Given the description of an element on the screen output the (x, y) to click on. 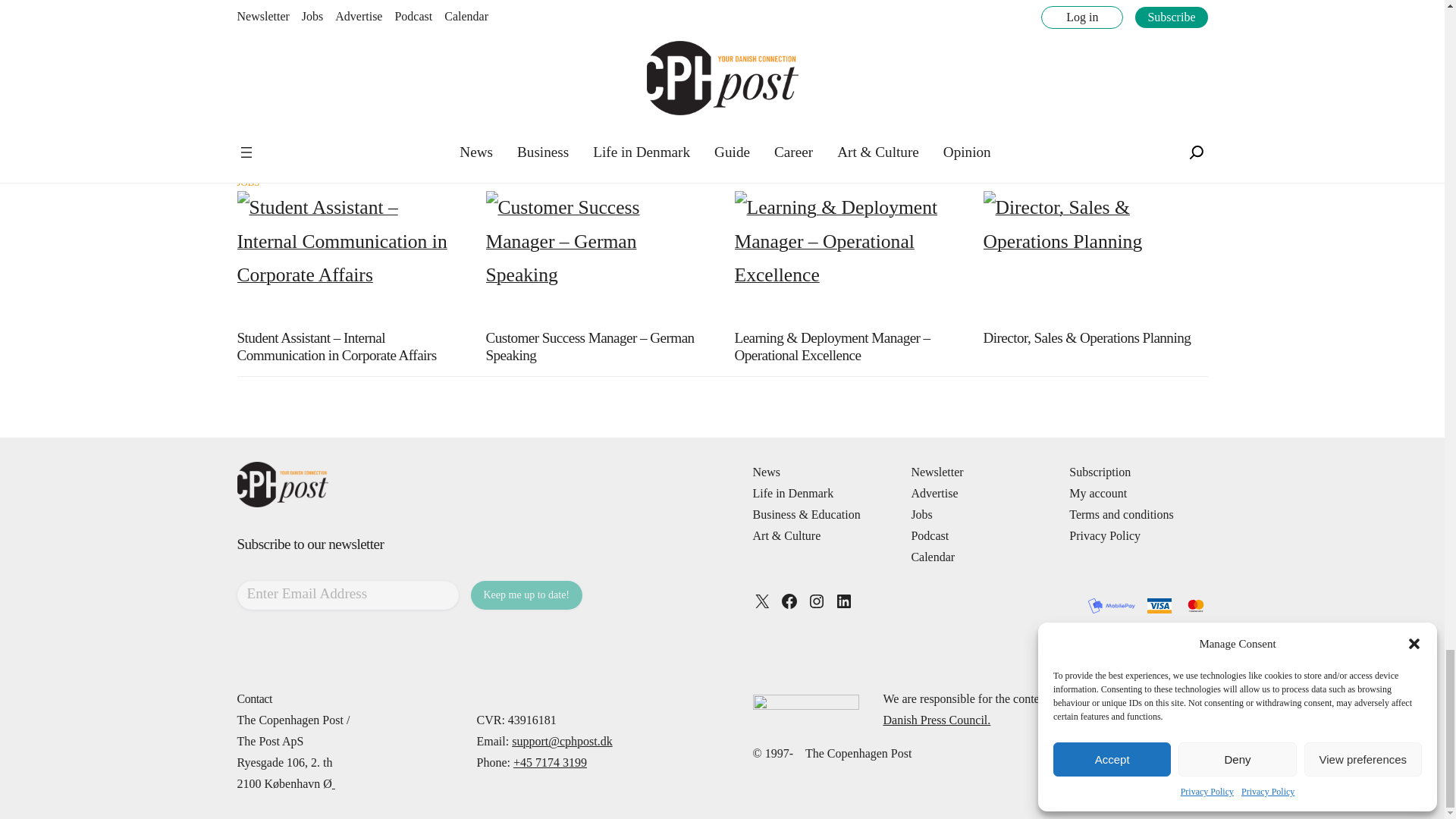
Keep me up to date! (526, 594)
